Given the description of an element on the screen output the (x, y) to click on. 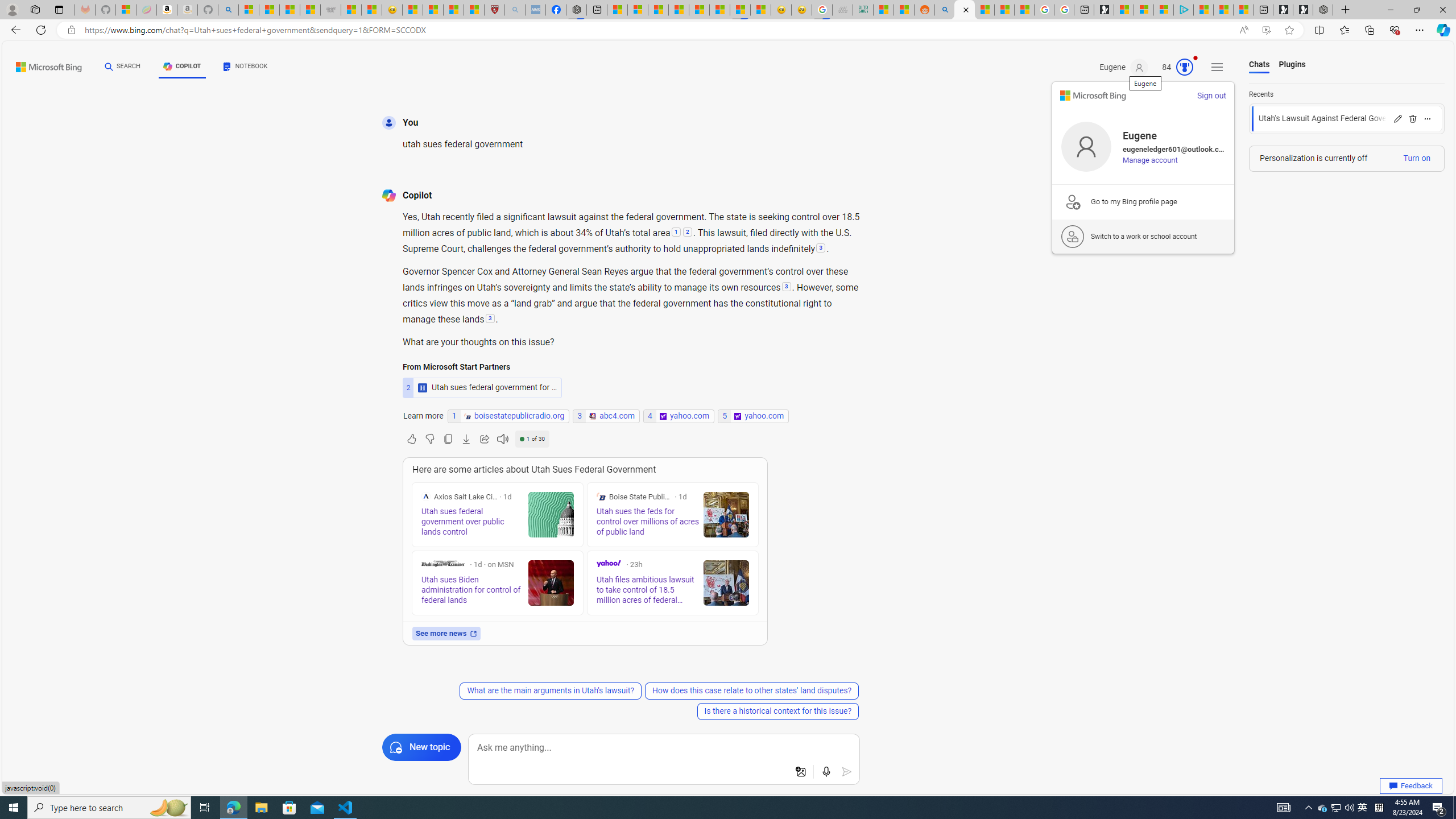
Chats (1259, 65)
2 Utah sues federal government for control of public lands (482, 387)
Microsoft Rewards 84 (1173, 67)
Eugene (1123, 67)
3:  (786, 287)
Washington Examiner on MSN.com (442, 563)
How does this case relate to other states' land disputes? (752, 690)
